Given the description of an element on the screen output the (x, y) to click on. 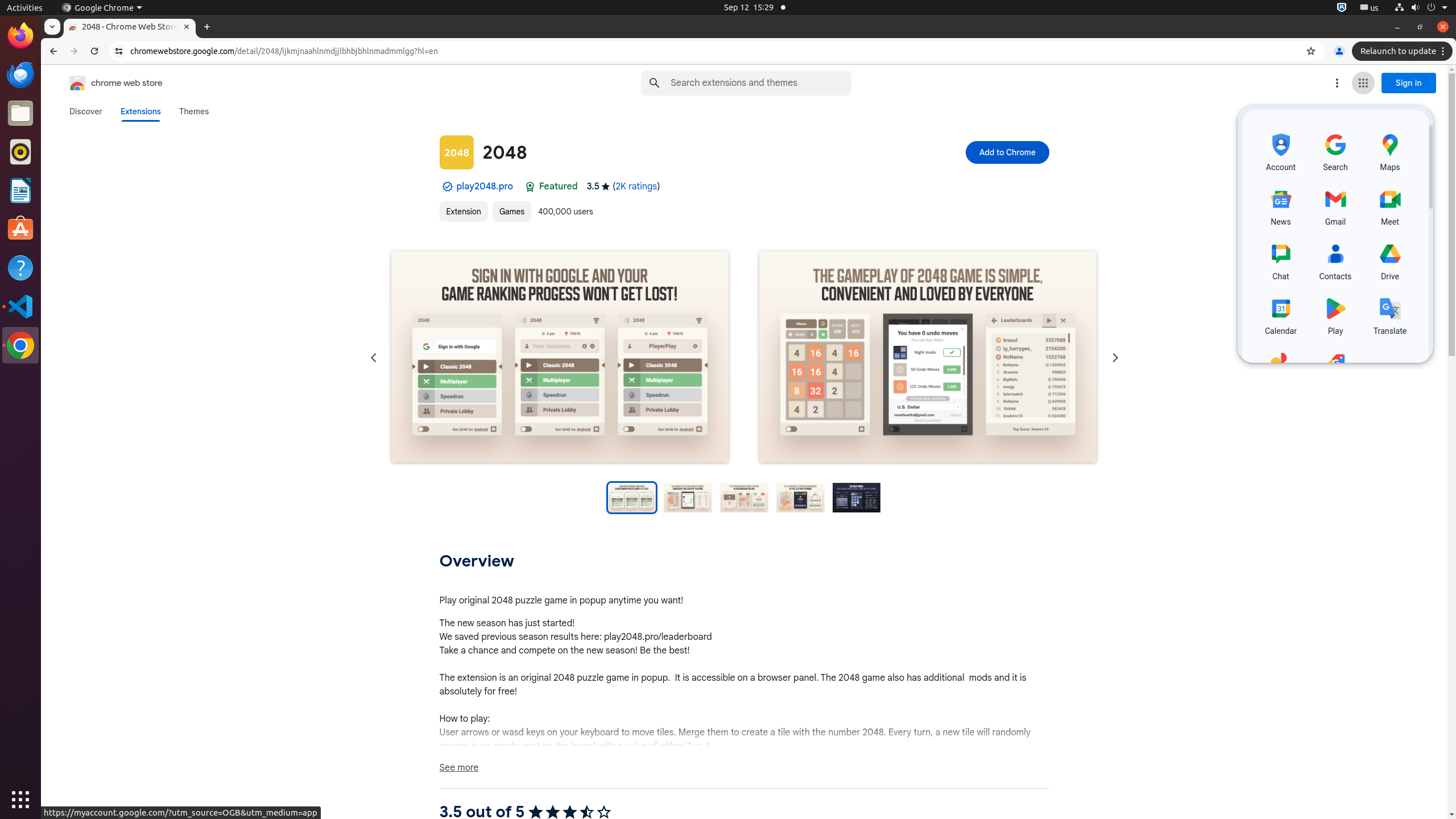
Meet, row 2 of 5 and column 3 of 3 in the first section (opens a new tab) Element type: link (1389, 205)
Preview slide 3 Element type: push-button (744, 497)
Preview slide 2 Element type: push-button (687, 497)
Calendar, row 4 of 5 and column 1 of 3 in the first section (opens a new tab) Element type: link (1280, 314)
Thunderbird Mail Element type: push-button (20, 74)
